Given the description of an element on the screen output the (x, y) to click on. 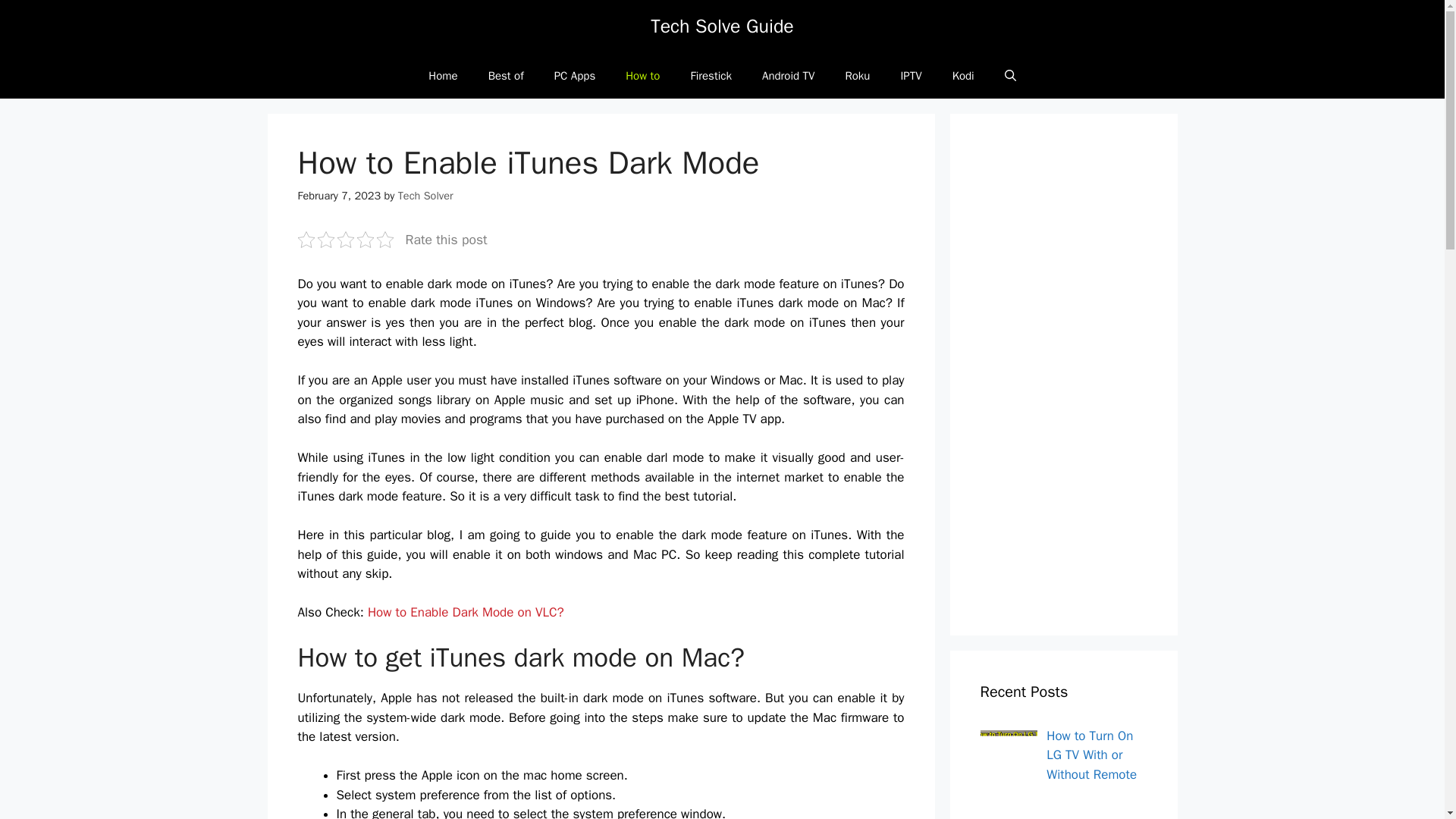
Tech Solve Guide (721, 25)
Roku (857, 75)
How to Enable Dark Mode on VLC? (466, 611)
Best of (505, 75)
Kodi (963, 75)
PC Apps (574, 75)
Firestick (710, 75)
Android TV (787, 75)
View all posts by Tech Solver (424, 195)
How to (642, 75)
